Given the description of an element on the screen output the (x, y) to click on. 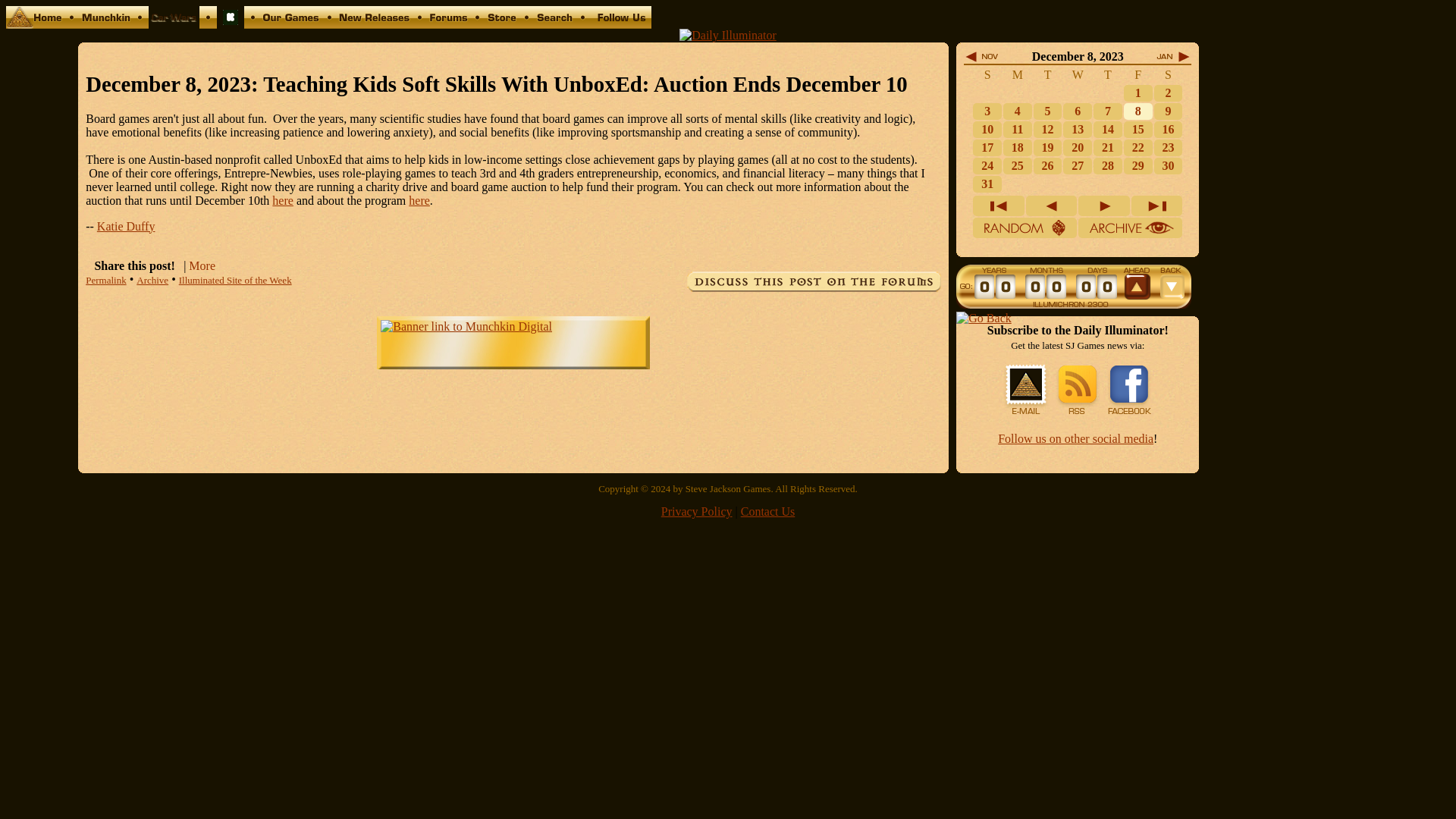
Today's Random Thought: Talon Show (1138, 92)
Music Recommendation: Security Project (1077, 110)
Archive (152, 279)
Our Games (291, 24)
New Releases (373, 24)
13 (1077, 128)
7 (1107, 110)
Permalink (105, 279)
4 (1017, 110)
12 (1047, 128)
